Given the description of an element on the screen output the (x, y) to click on. 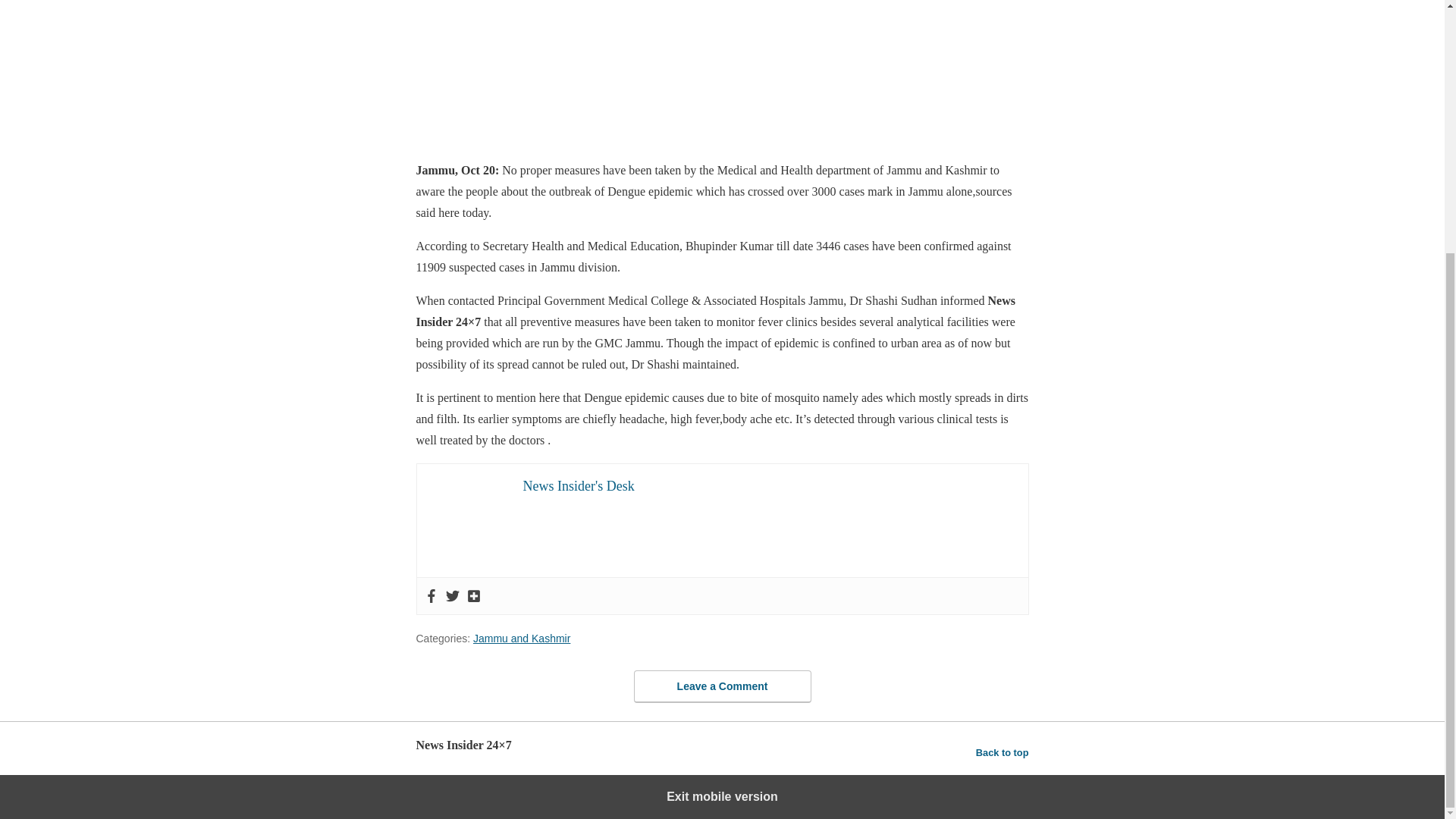
News Insider's Desk (578, 485)
Jammu and Kashmir (521, 637)
Back to top (1002, 752)
Addthis (473, 595)
Leave a Comment (721, 686)
Twitter (452, 595)
Facebook (431, 595)
